Given the description of an element on the screen output the (x, y) to click on. 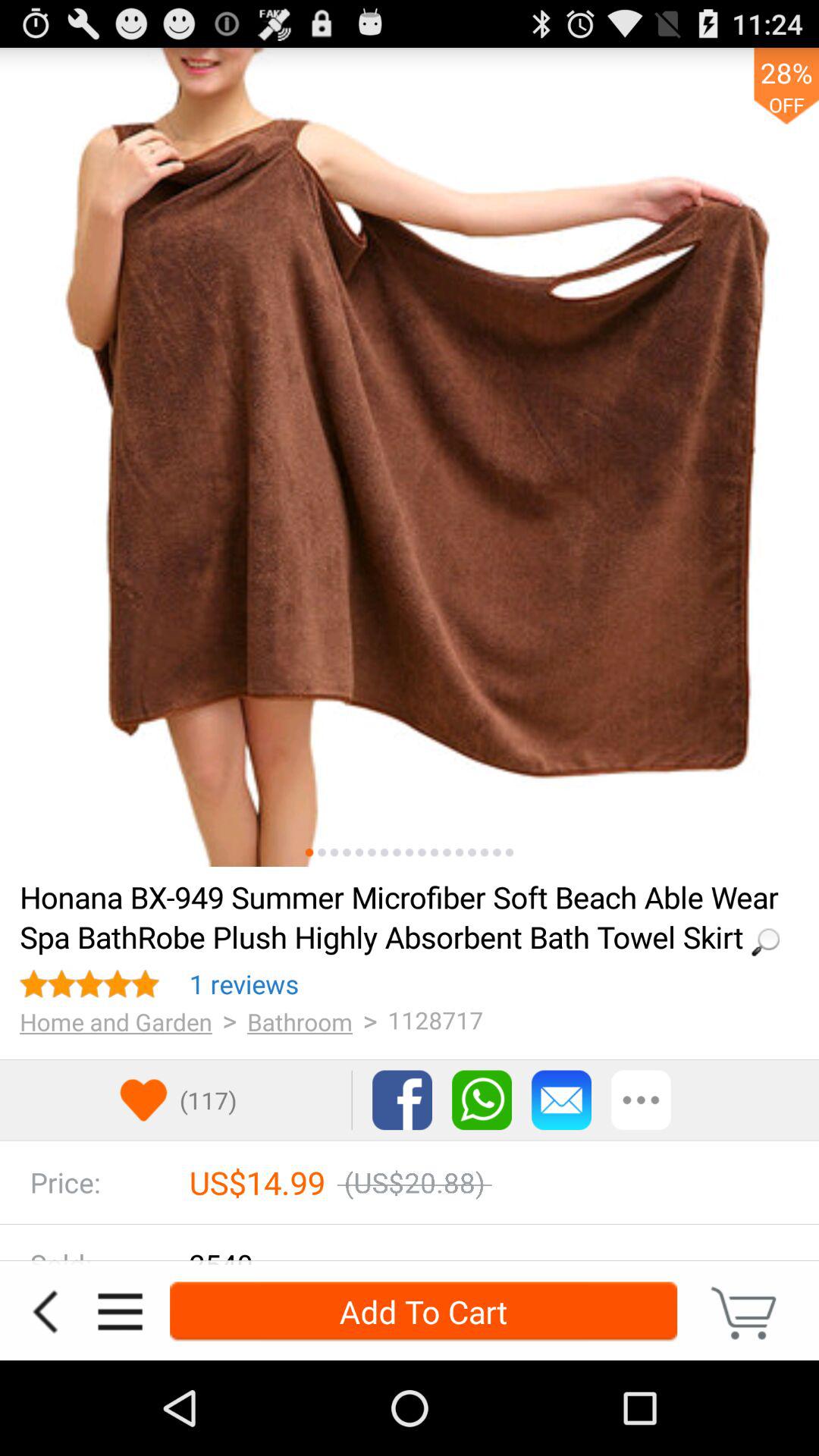
click the icon below loading... item (244, 983)
